Given the description of an element on the screen output the (x, y) to click on. 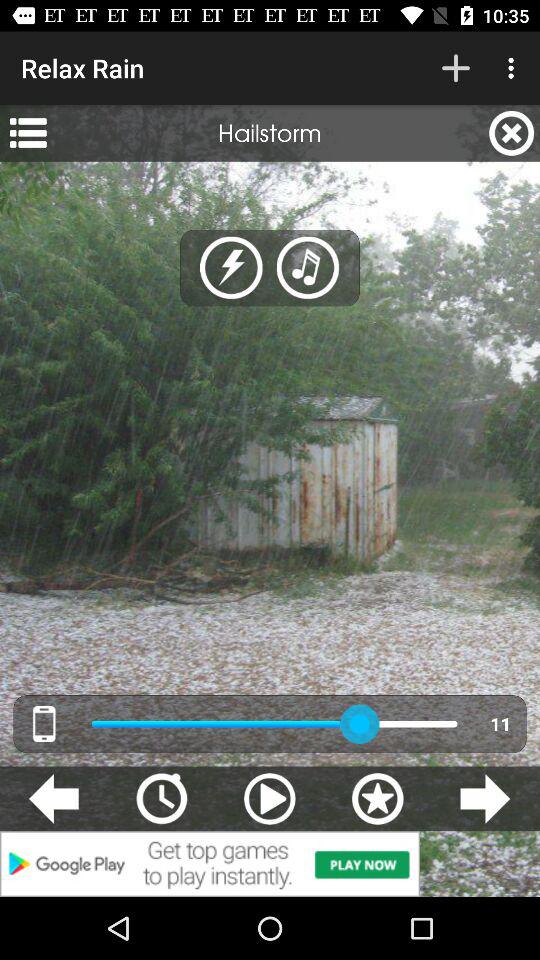
launch the icon next to relax rain icon (455, 67)
